Given the description of an element on the screen output the (x, y) to click on. 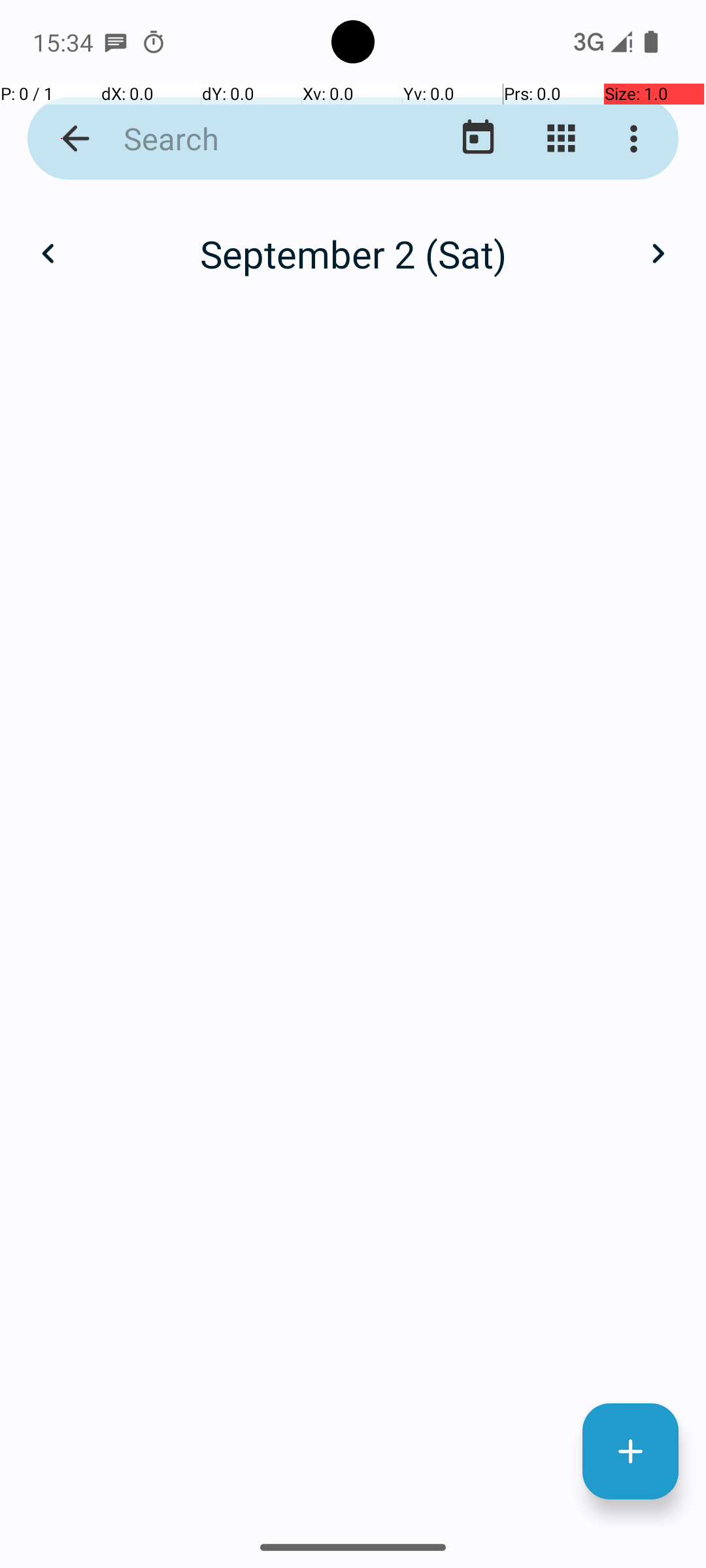
September 2 (Sat) Element type: android.widget.TextView (352, 253)
